Given the description of an element on the screen output the (x, y) to click on. 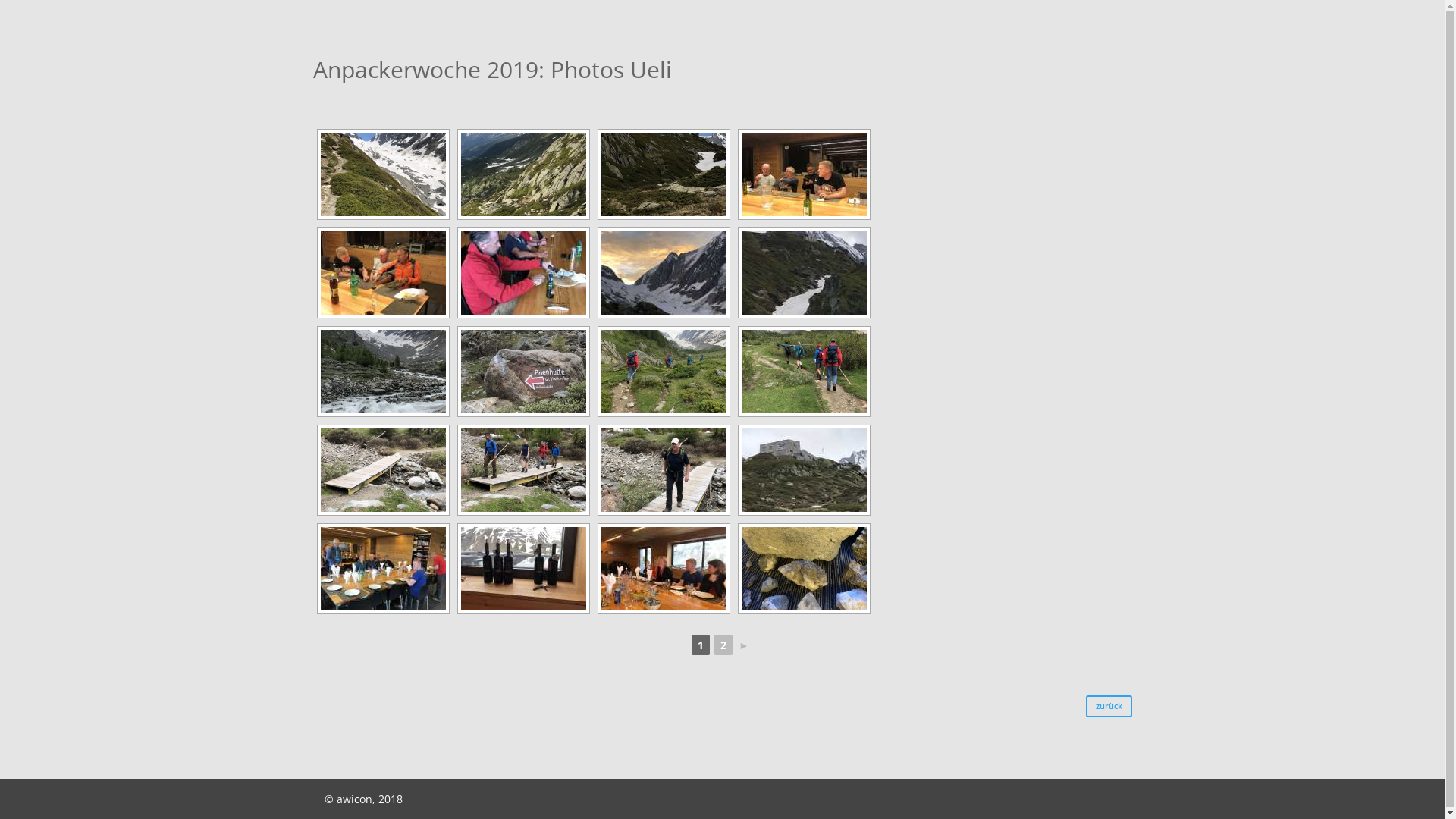
IMG_3366-min Element type: hover (803, 568)
IMG_3364-min Element type: hover (523, 568)
IMG_3347-min Element type: hover (382, 371)
IMG_3363-min Element type: hover (382, 568)
IMG_3365-min Element type: hover (662, 568)
IMG_3352-min Element type: hover (803, 371)
IMG_3359-min Element type: hover (662, 469)
IMG_3335-min Element type: hover (382, 272)
IMG_3327-min Element type: hover (382, 174)
2 Element type: text (723, 644)
IMG_3351-min Element type: hover (662, 371)
IMG_3356-min Element type: hover (523, 469)
IMG_3362-min Element type: hover (803, 469)
IMG_3331-min Element type: hover (523, 174)
IMG_3341-min Element type: hover (662, 272)
IMG_3345-min Element type: hover (803, 272)
IMG_3333-min Element type: hover (803, 174)
IMG_3332-min Element type: hover (662, 174)
IMG_3355-min Element type: hover (382, 469)
IMG_3348-min Element type: hover (523, 371)
IMG_3337-min Element type: hover (523, 272)
